Given the description of an element on the screen output the (x, y) to click on. 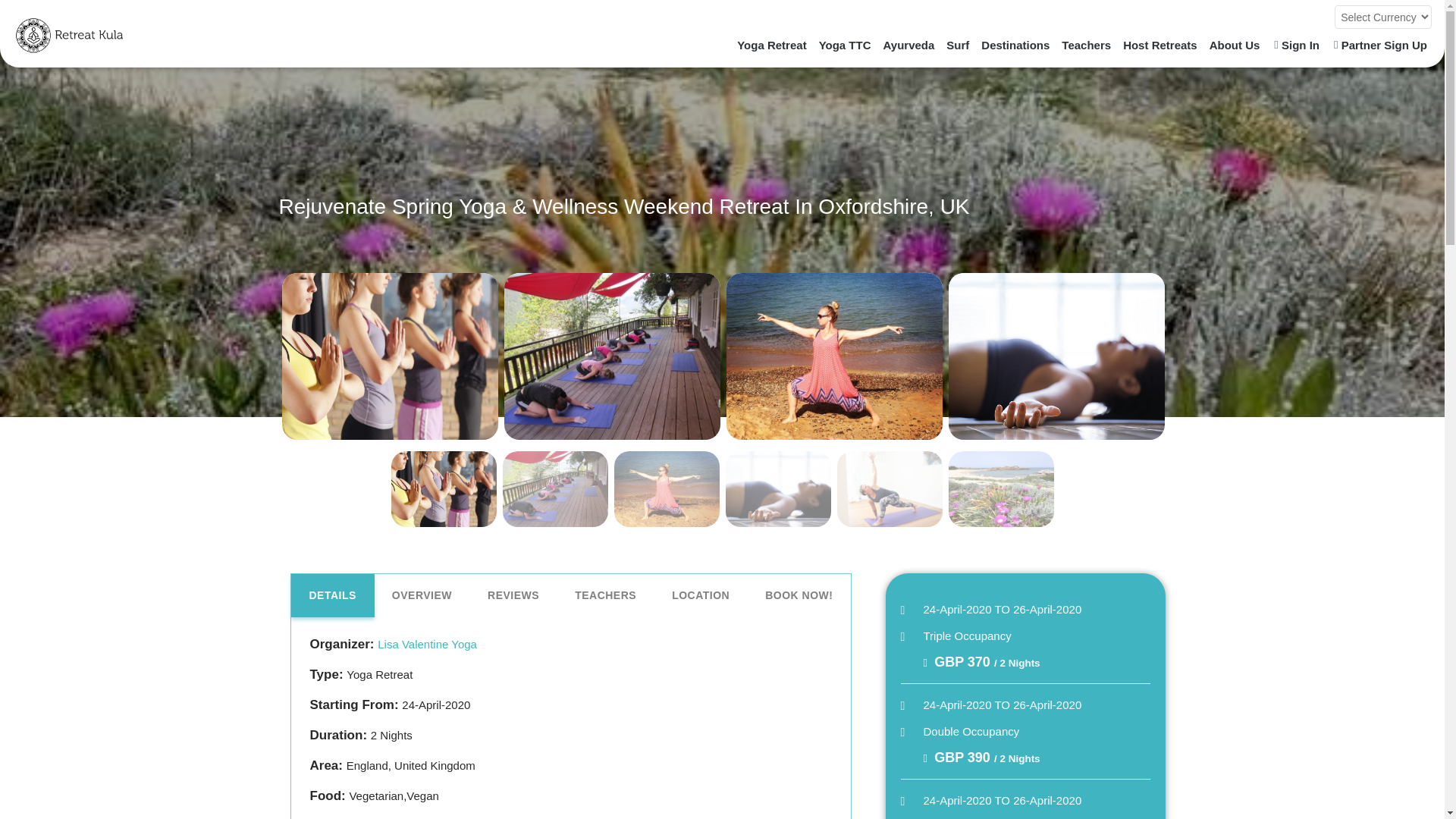
Yoga Retreat (771, 45)
BOOK NOW! (798, 596)
